Given the description of an element on the screen output the (x, y) to click on. 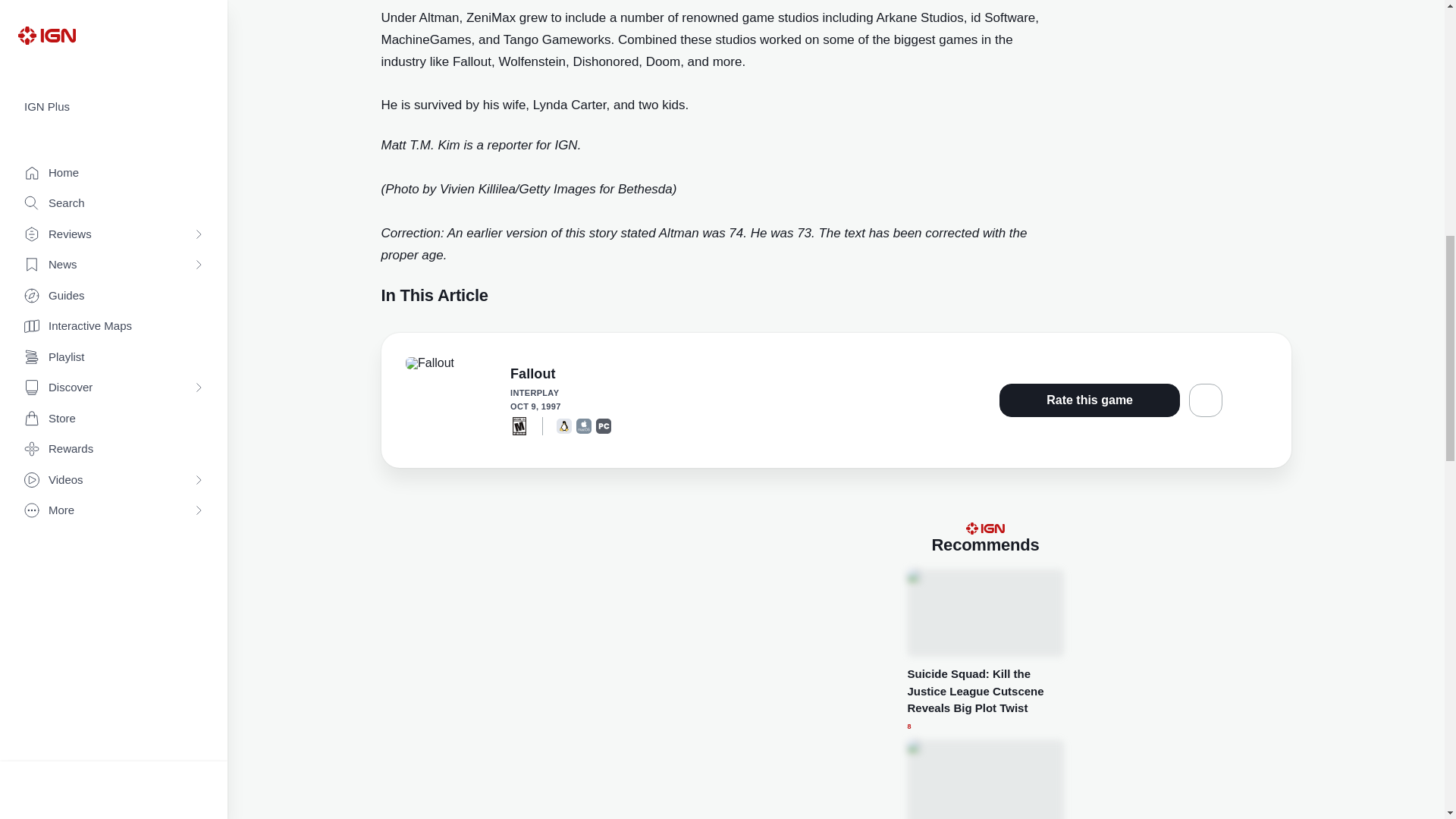
ESRB: Mature (518, 425)
Linux (564, 426)
